Given the description of an element on the screen output the (x, y) to click on. 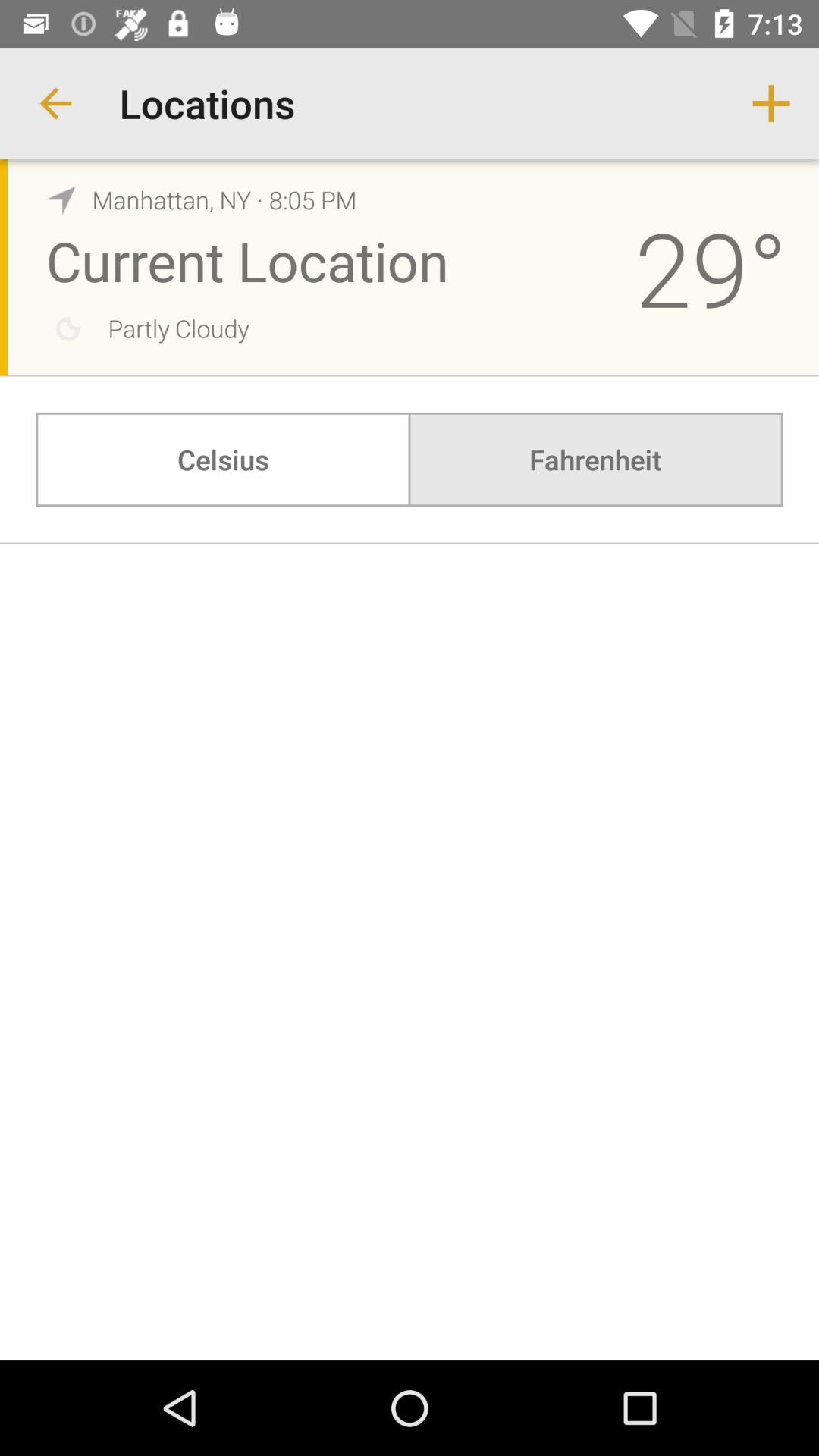
turn off the fahrenheit (595, 459)
